Given the description of an element on the screen output the (x, y) to click on. 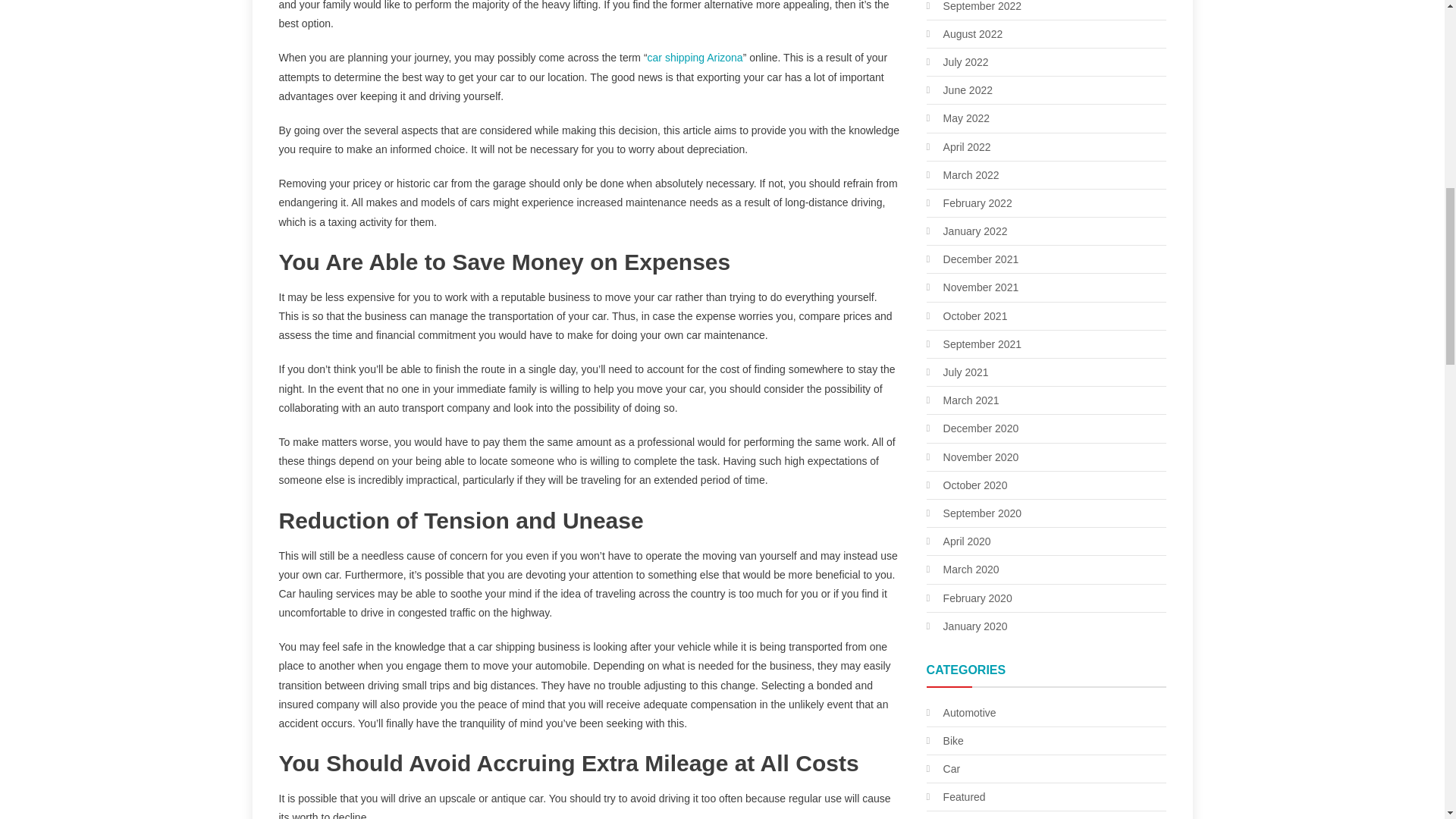
car shipping Arizona (694, 57)
